Given the description of an element on the screen output the (x, y) to click on. 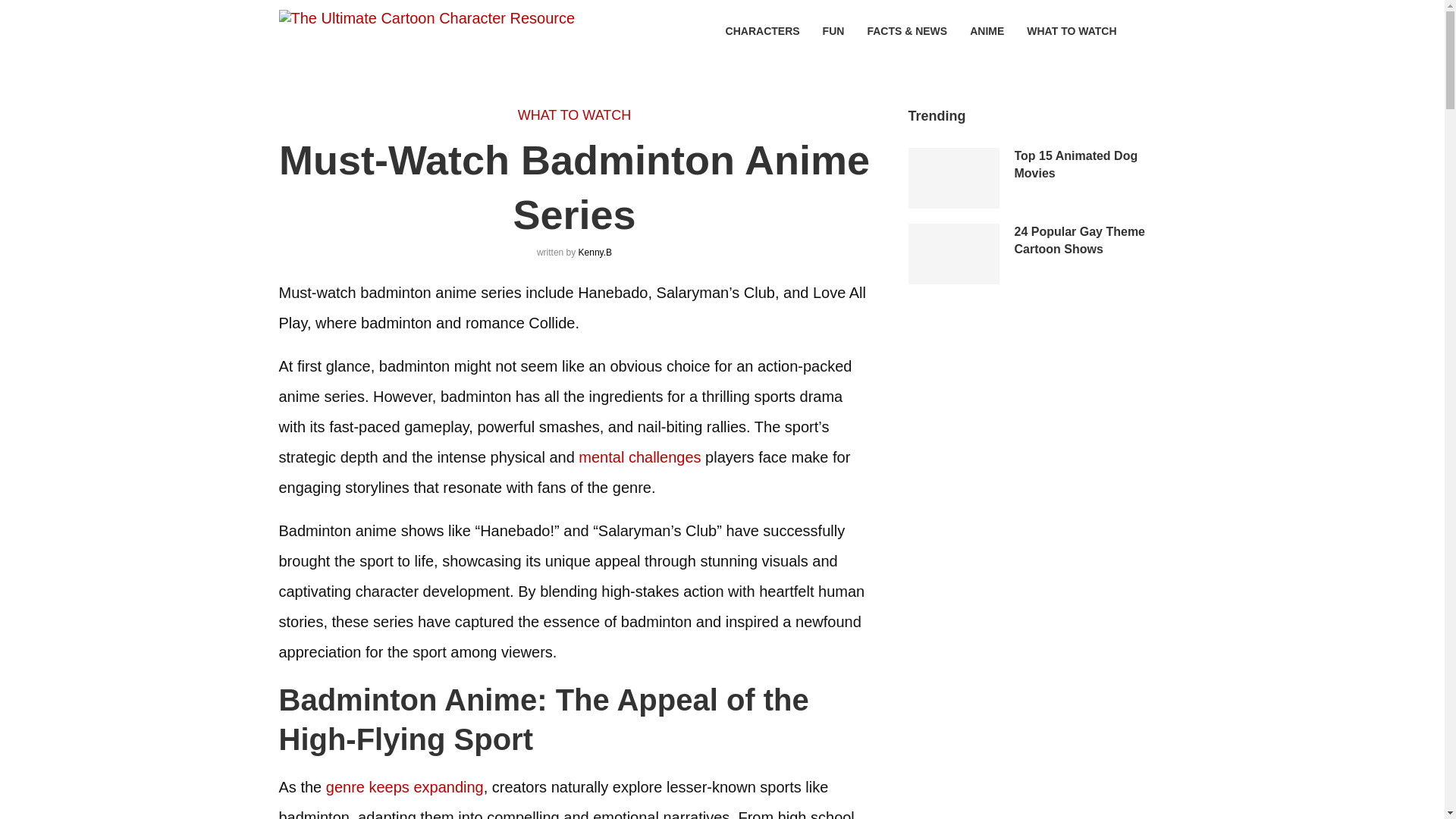
CHARACTERS (762, 30)
genre keeps expanding (404, 786)
Kenny.B (594, 252)
Top 15 Animated Dog Movies (1090, 164)
24 Popular Gay Theme Cartoon Shows (1090, 240)
24 Popular Gay Theme Cartoon Shows (1090, 240)
24 Popular Gay Theme Cartoon Shows (953, 253)
mental challenges (639, 457)
WHAT TO WATCH (1071, 30)
WHAT TO WATCH (574, 115)
